Given the description of an element on the screen output the (x, y) to click on. 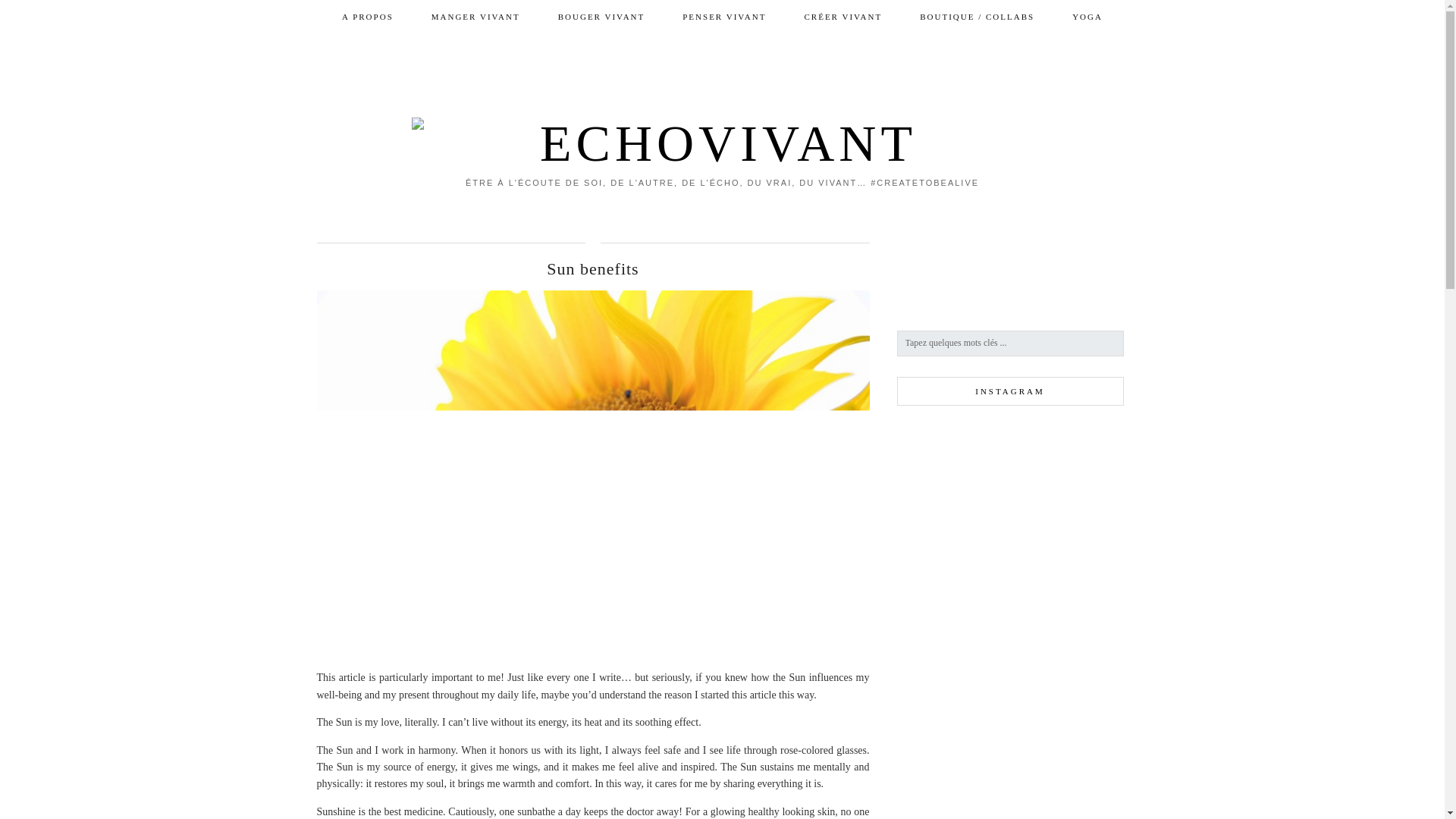
Echovivant (722, 117)
A PROPOS (367, 16)
PENSER VIVANT (723, 16)
BOUGER VIVANT (600, 16)
YOGA (1086, 16)
MANGER VIVANT (475, 16)
